Given the description of an element on the screen output the (x, y) to click on. 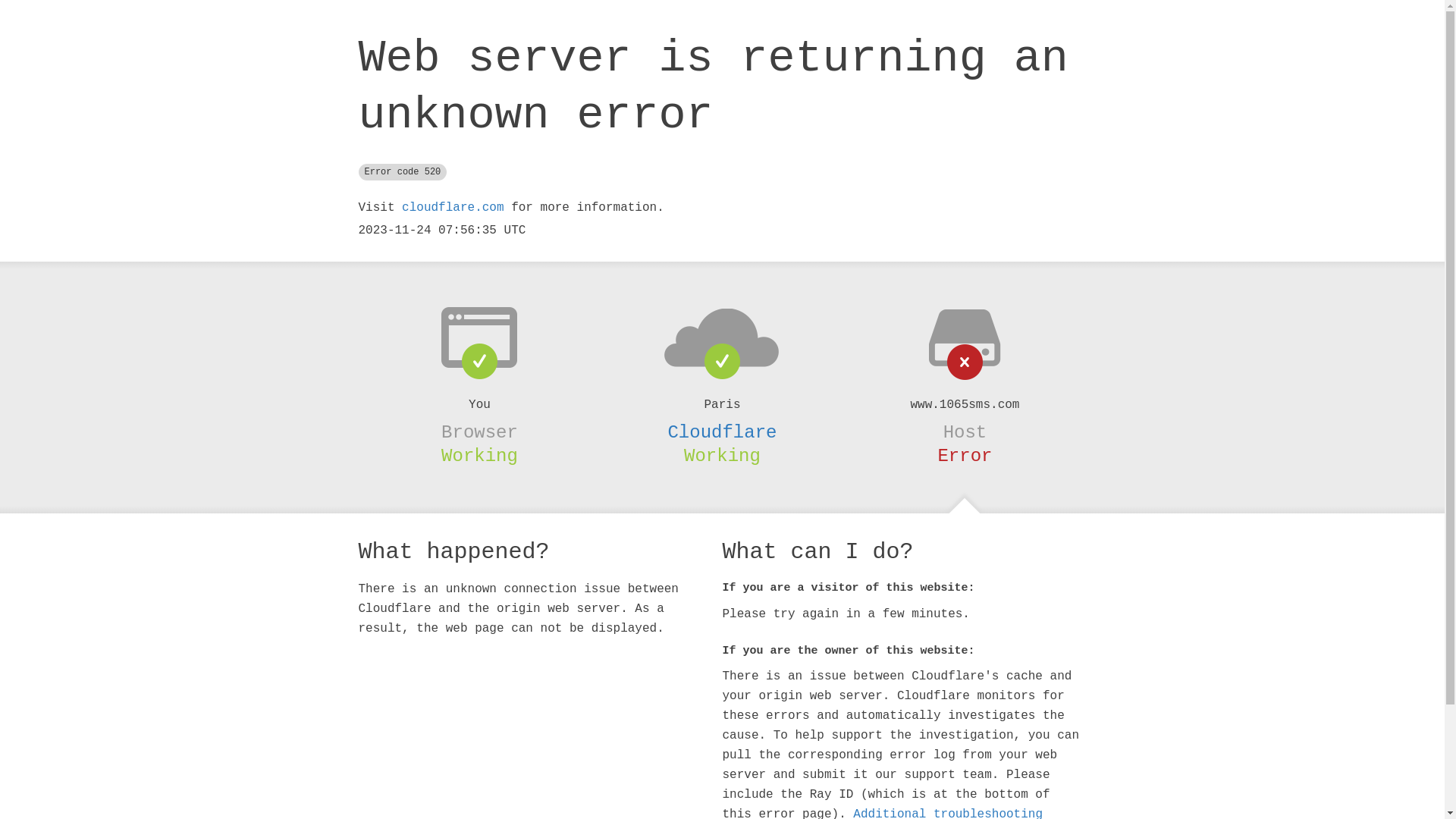
cloudflare.com Element type: text (452, 207)
Cloudflare Element type: text (721, 432)
